Given the description of an element on the screen output the (x, y) to click on. 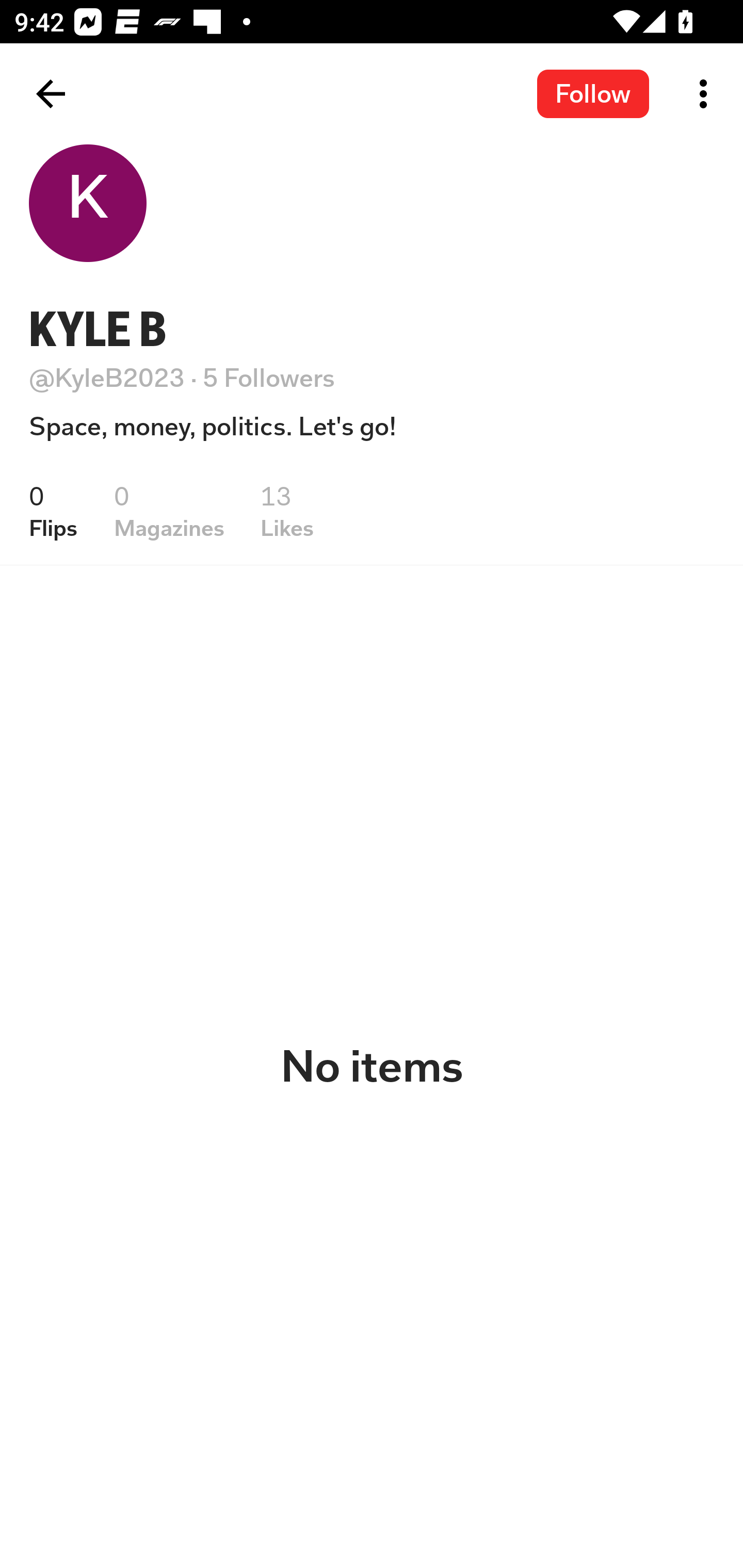
Back (50, 93)
More options (706, 93)
Follow (593, 92)
KYLE B (97, 328)
@KyleB2023 (106, 377)
5 Followers (268, 377)
0 Flips (53, 510)
0 Magazines (168, 510)
13 Likes (287, 510)
